Given the description of an element on the screen output the (x, y) to click on. 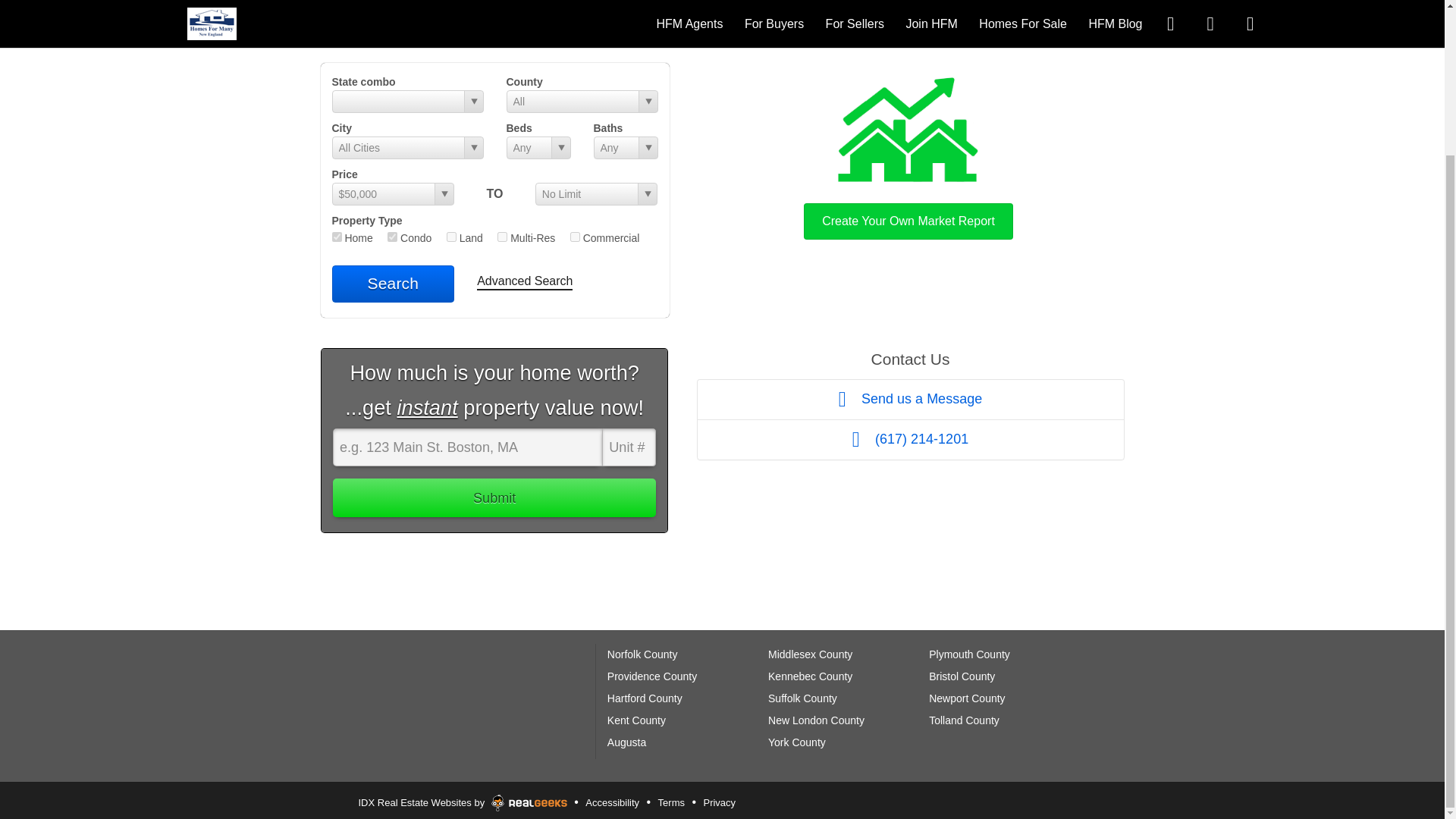
Advanced Search (524, 282)
Kennebec County (809, 676)
Suffolk County (802, 698)
Send us a Message (909, 399)
Norfolk County (642, 654)
Search (392, 283)
Tolland County (963, 720)
Create Your Own Market Report (908, 155)
York County (796, 742)
mul (501, 236)
Hartford County (644, 698)
Newport County (966, 698)
res (336, 236)
New London County (816, 720)
Augusta (626, 742)
